Given the description of an element on the screen output the (x, y) to click on. 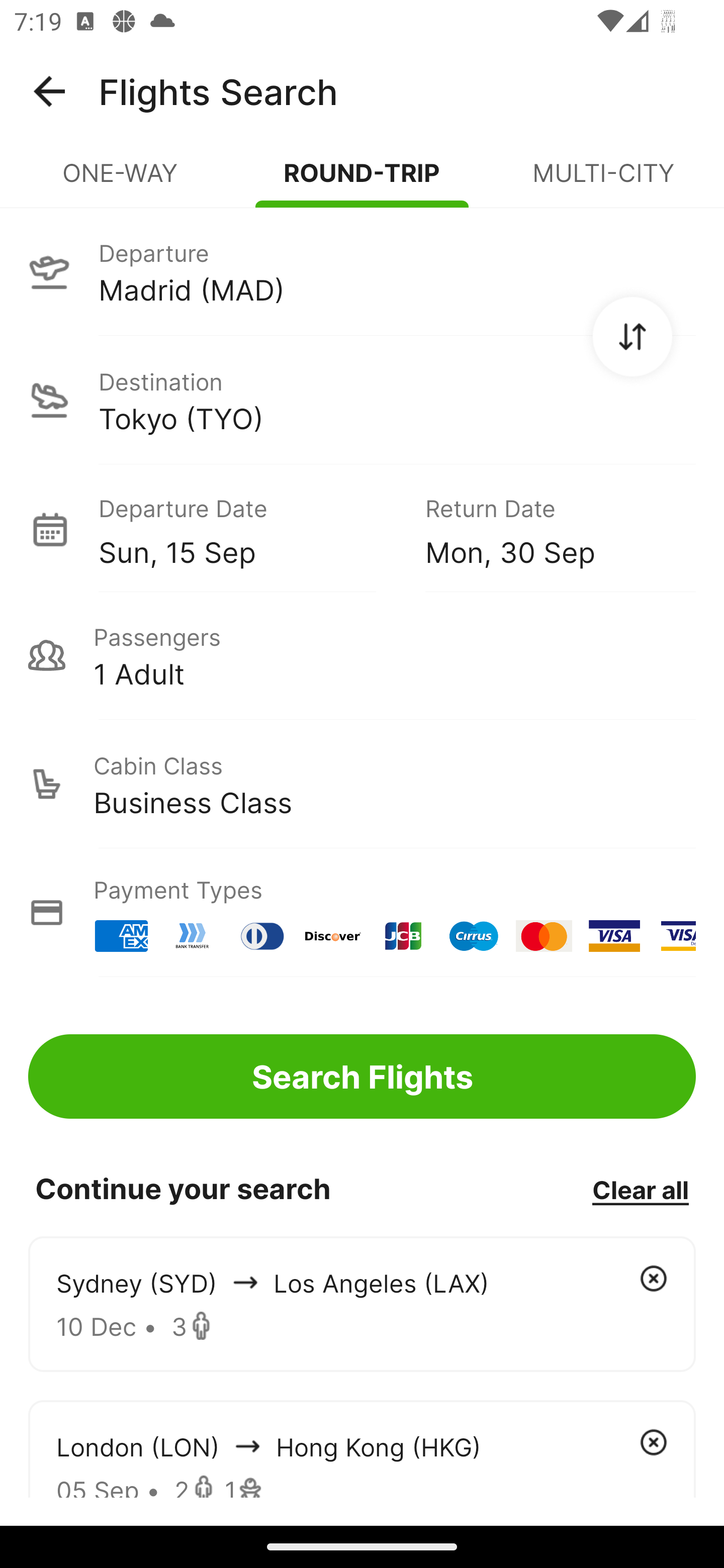
ONE-WAY (120, 180)
ROUND-TRIP (361, 180)
MULTI-CITY (603, 180)
Departure Madrid (MAD) (362, 270)
Destination Tokyo (TYO) (362, 400)
Departure Date Sun, 15 Sep (247, 528)
Return Date Mon, 30 Sep (546, 528)
Passengers 1 Adult (362, 655)
Cabin Class Business Class (362, 783)
Payment Types (362, 912)
Search Flights (361, 1075)
Clear all (640, 1189)
